Given the description of an element on the screen output the (x, y) to click on. 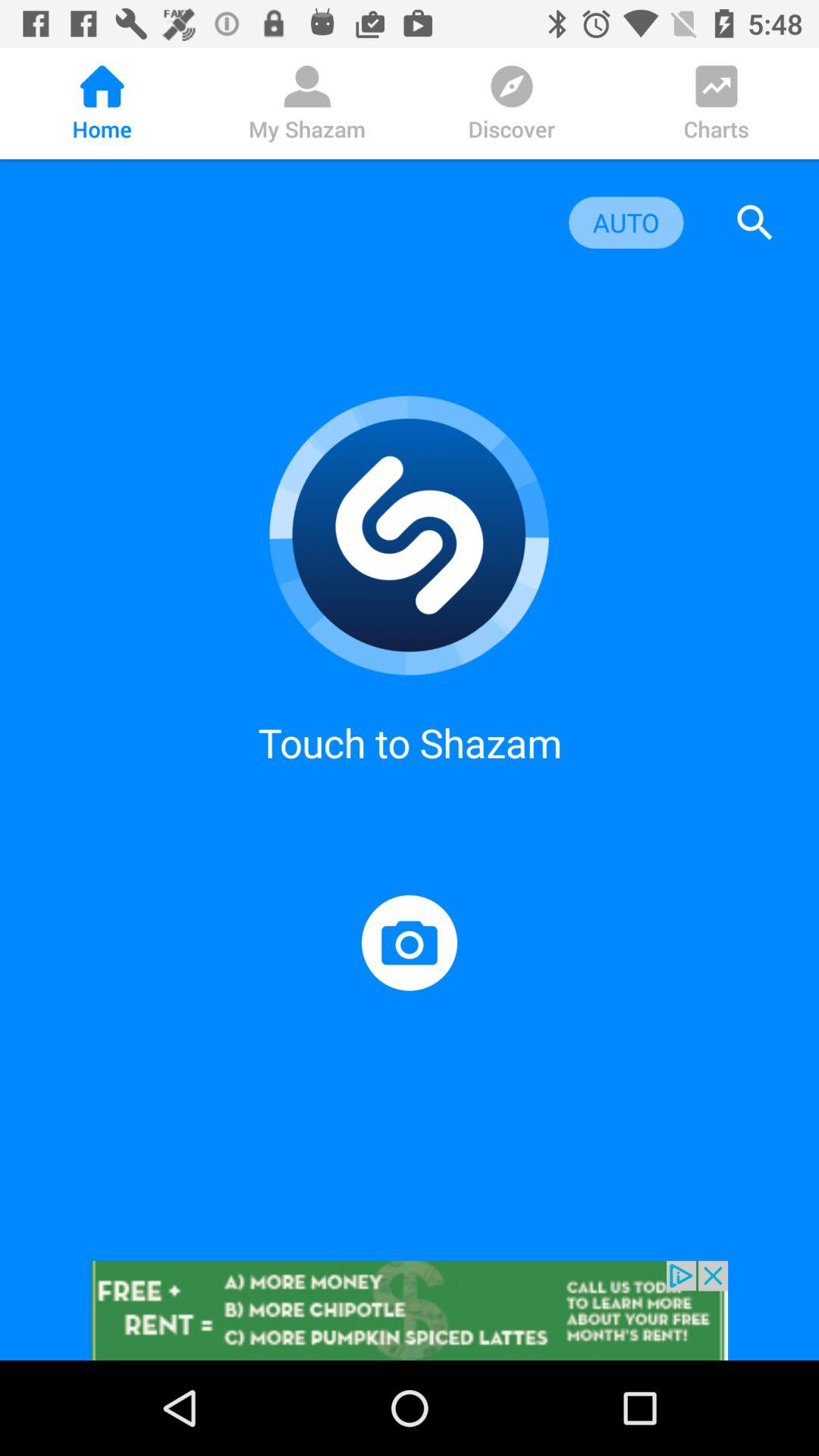
advertisement (409, 1310)
